Given the description of an element on the screen output the (x, y) to click on. 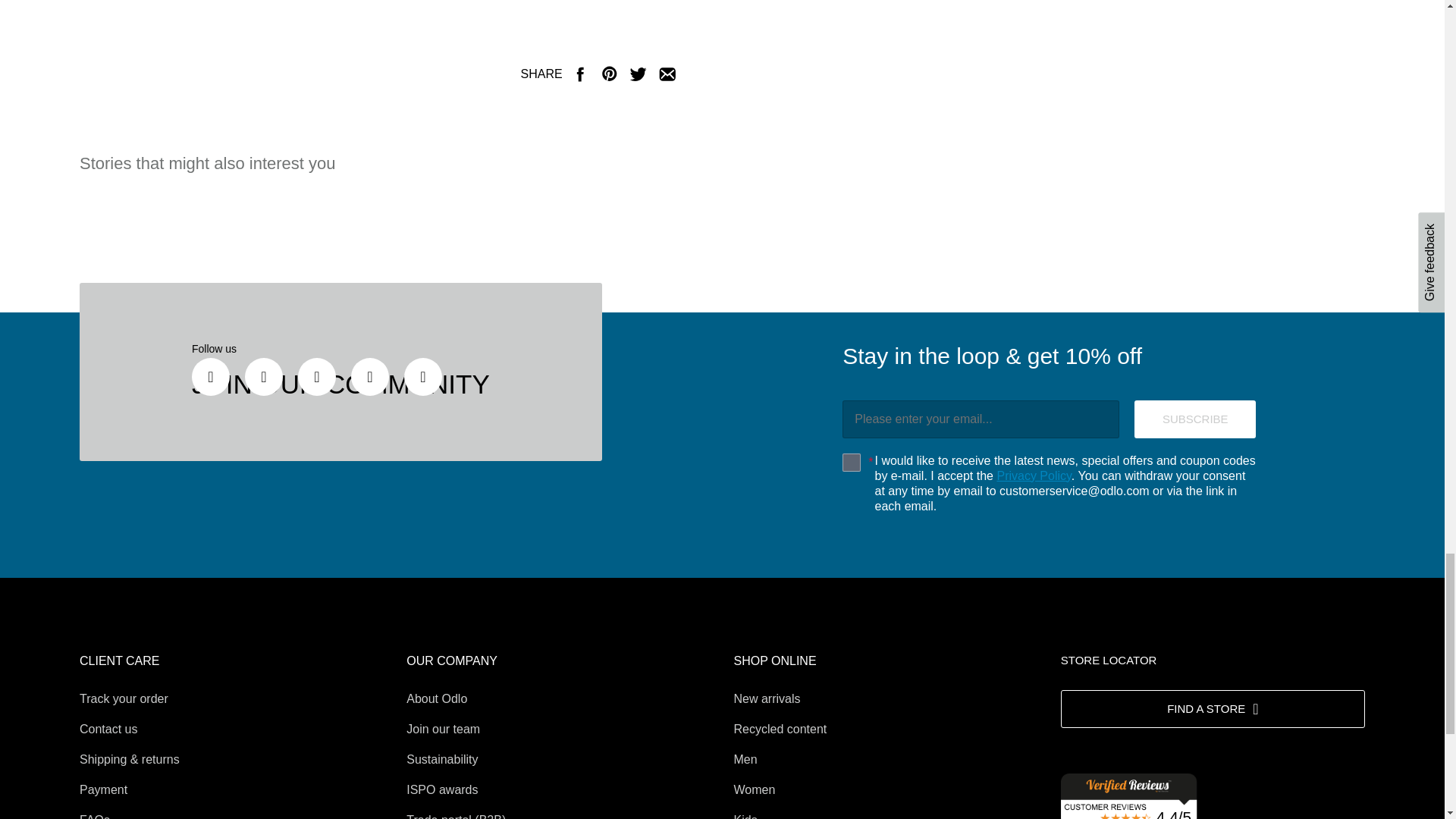
Kids (745, 816)
Privacy Policy (1032, 475)
